Given the description of an element on the screen output the (x, y) to click on. 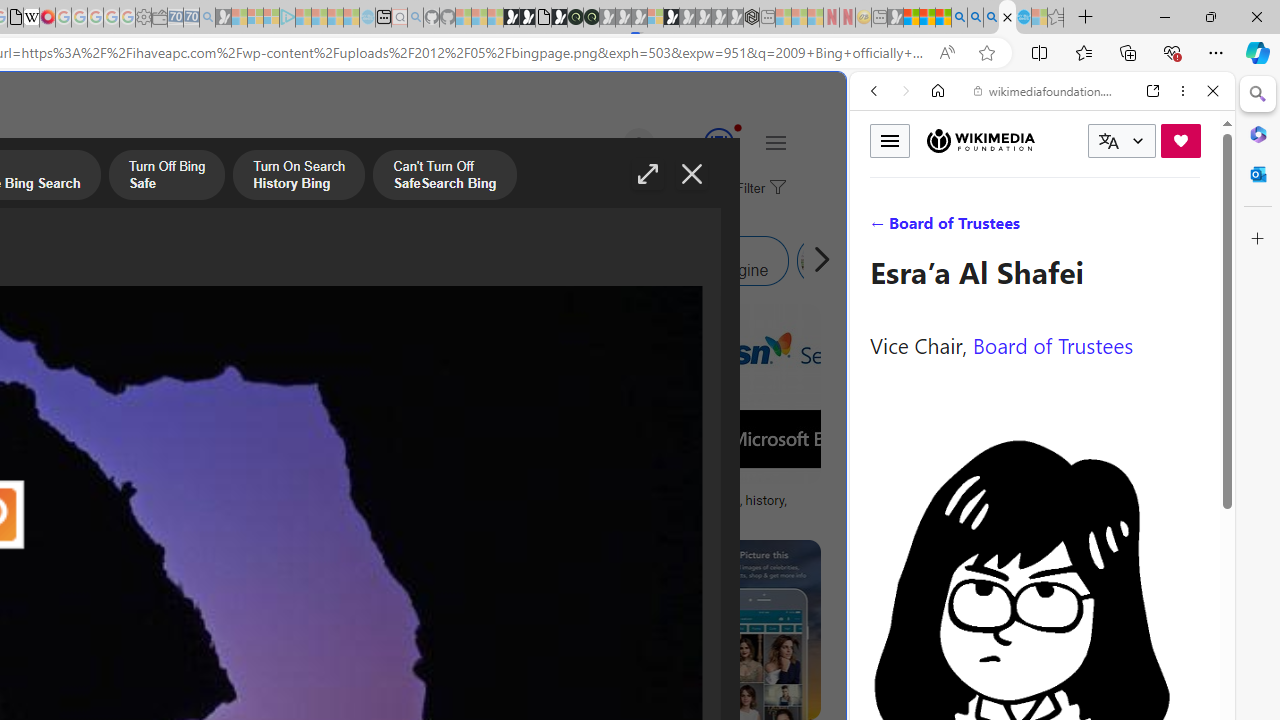
Forward (906, 91)
Technology History timeline | Timetoast timelinesSave (189, 417)
Https Bing Search Q MSN (889, 260)
Https Bing Search Q MSN (822, 260)
wikimediafoundation.org (1045, 90)
Turn Off Bing Safe (166, 177)
Settings - Sleeping (143, 17)
